Given the description of an element on the screen output the (x, y) to click on. 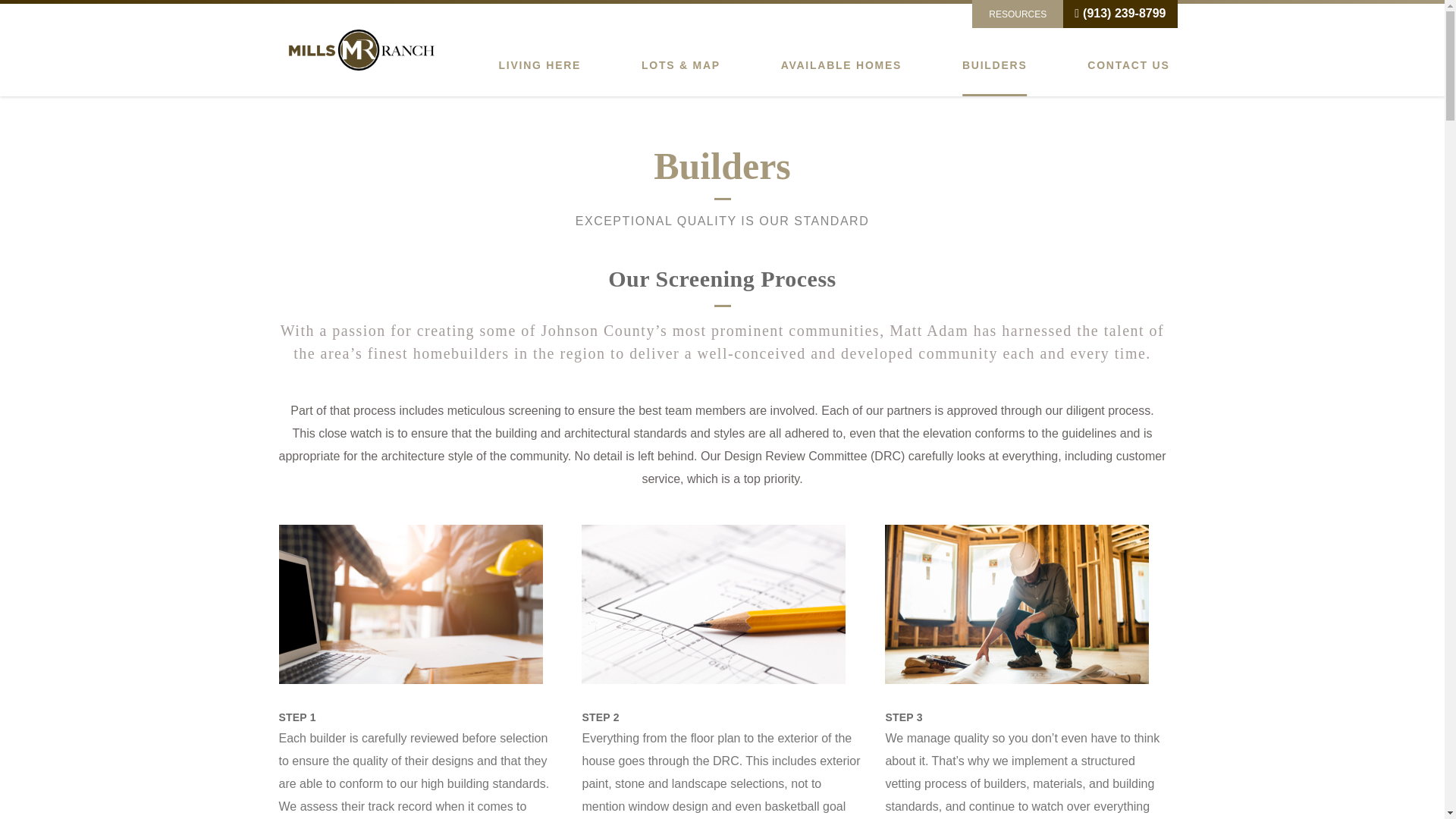
CONTACT US (1128, 65)
BUILDERS (994, 65)
AVAILABLE HOMES (841, 65)
Contact Us (1128, 65)
Living Here (539, 65)
LIVING HERE (539, 65)
RESOURCES (1017, 14)
Available Homes (841, 65)
Builders (994, 65)
